Given the description of an element on the screen output the (x, y) to click on. 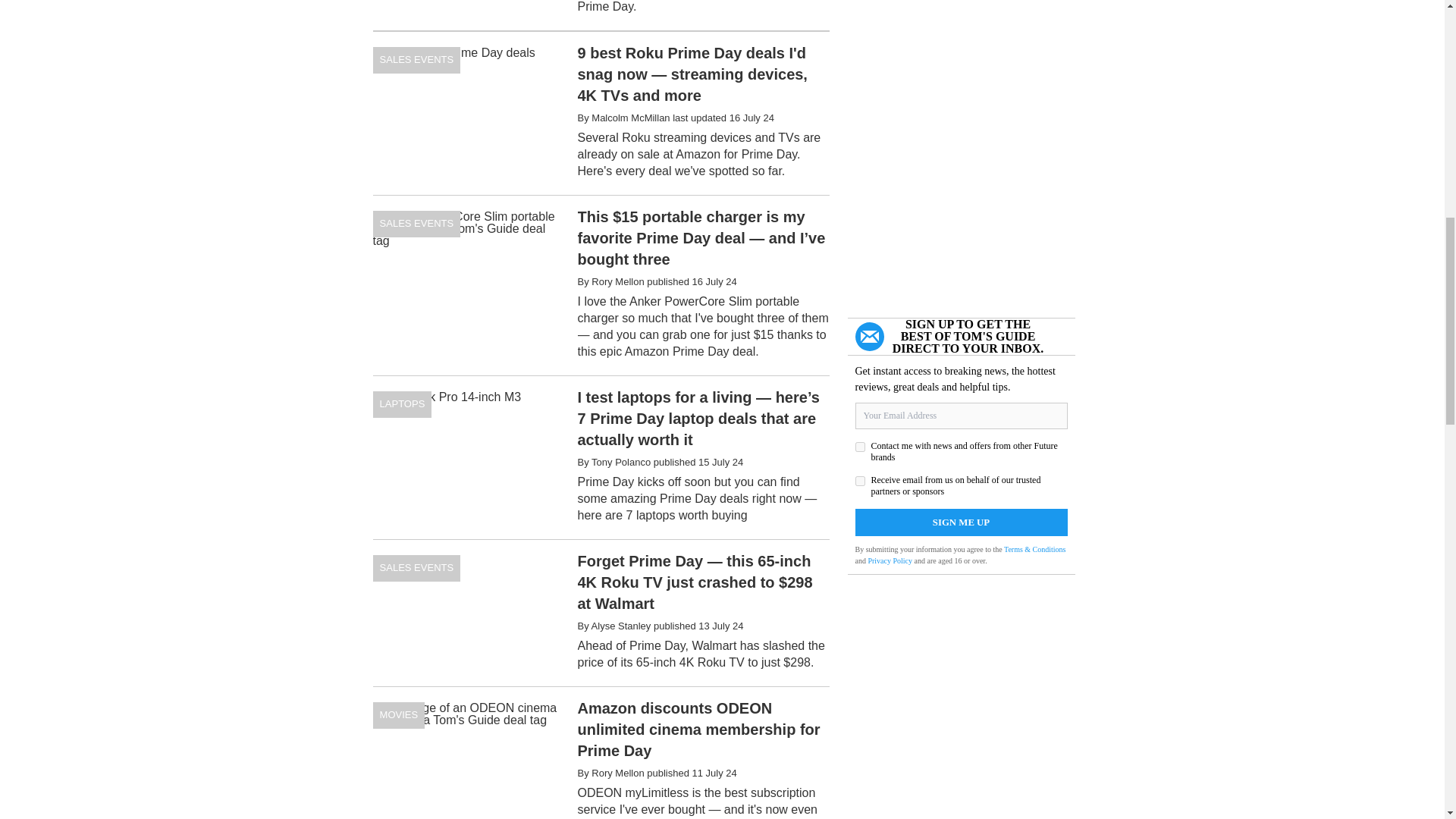
on (860, 480)
Sign me up (961, 522)
on (860, 447)
